Given the description of an element on the screen output the (x, y) to click on. 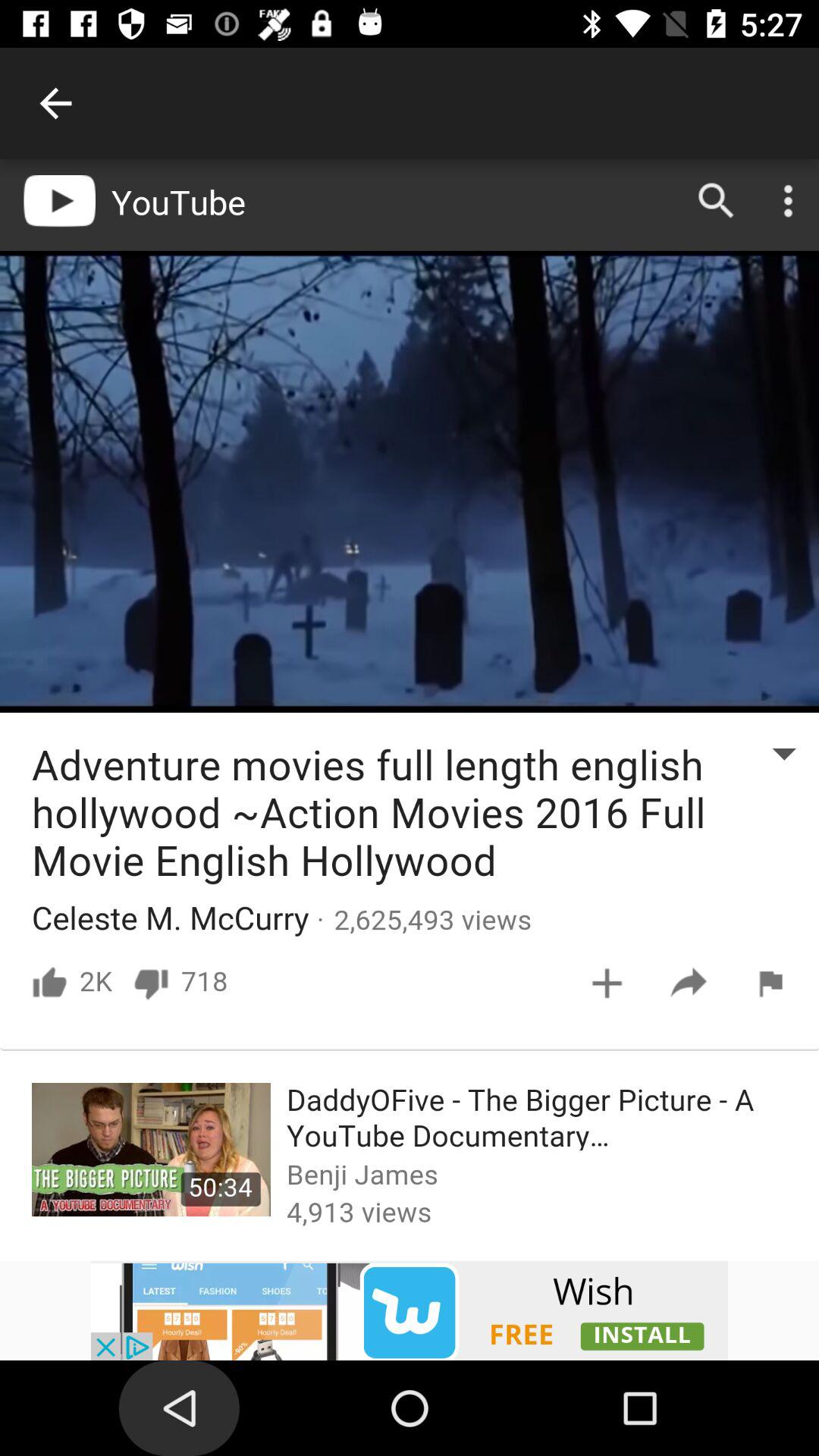
video (409, 1310)
